Given the description of an element on the screen output the (x, y) to click on. 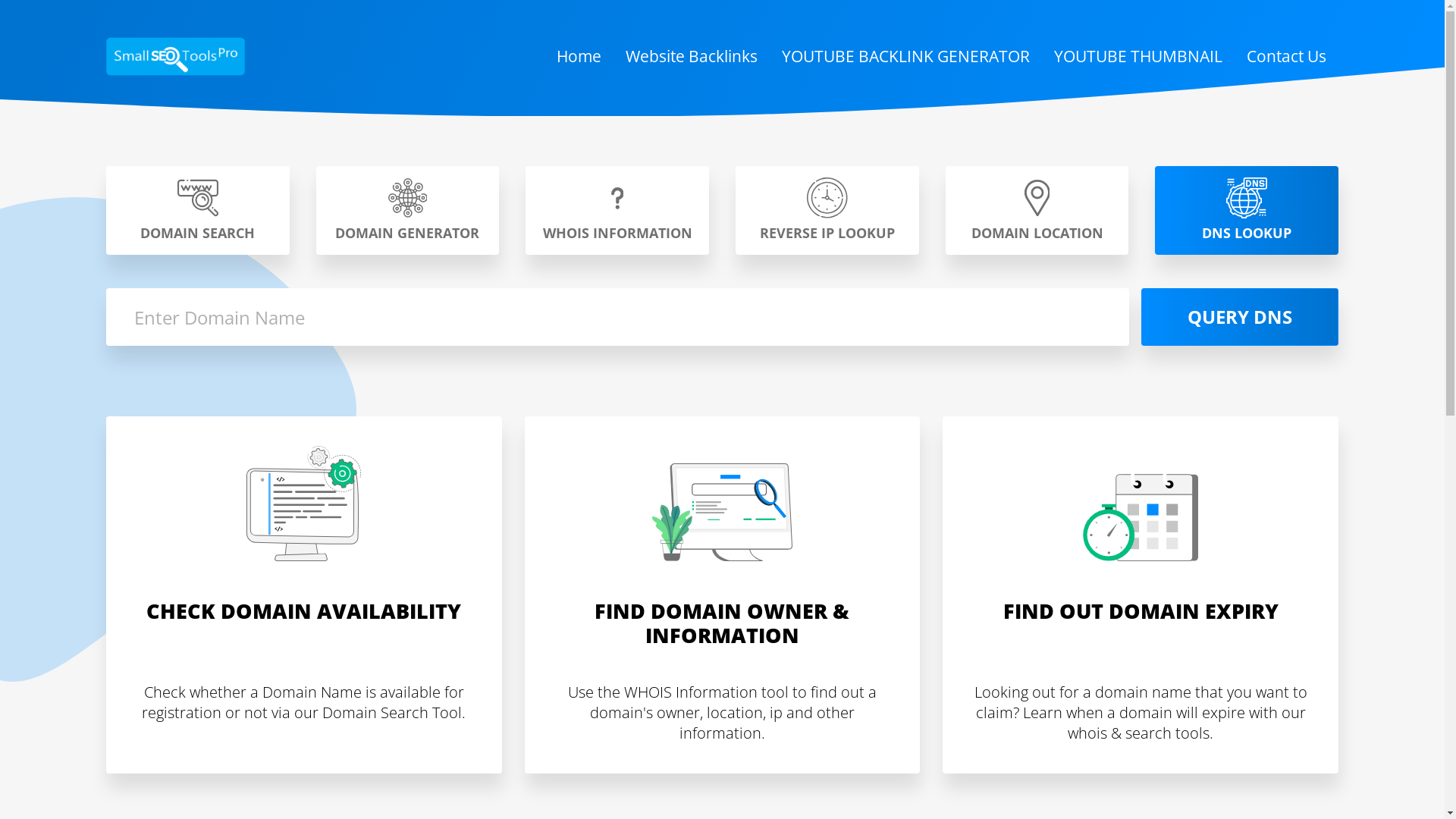
DNS LOOKUP Element type: text (1246, 210)
QUERY DNS Element type: text (1239, 316)
Home Element type: text (578, 56)
DOMAIN GENERATOR Element type: text (407, 210)
Contact Us Element type: text (1286, 56)
YOUTUBE THUMBNAIL Element type: text (1137, 56)
Website Backlinks Element type: text (691, 56)
DOMAIN SEARCH Element type: text (197, 210)
WHOIS INFORMATION Element type: text (617, 210)
DOMAIN LOCATION Element type: text (1037, 210)
REVERSE IP LOOKUP Element type: text (827, 210)
YOUTUBE BACKLINK GENERATOR Element type: text (905, 56)
